Given the description of an element on the screen output the (x, y) to click on. 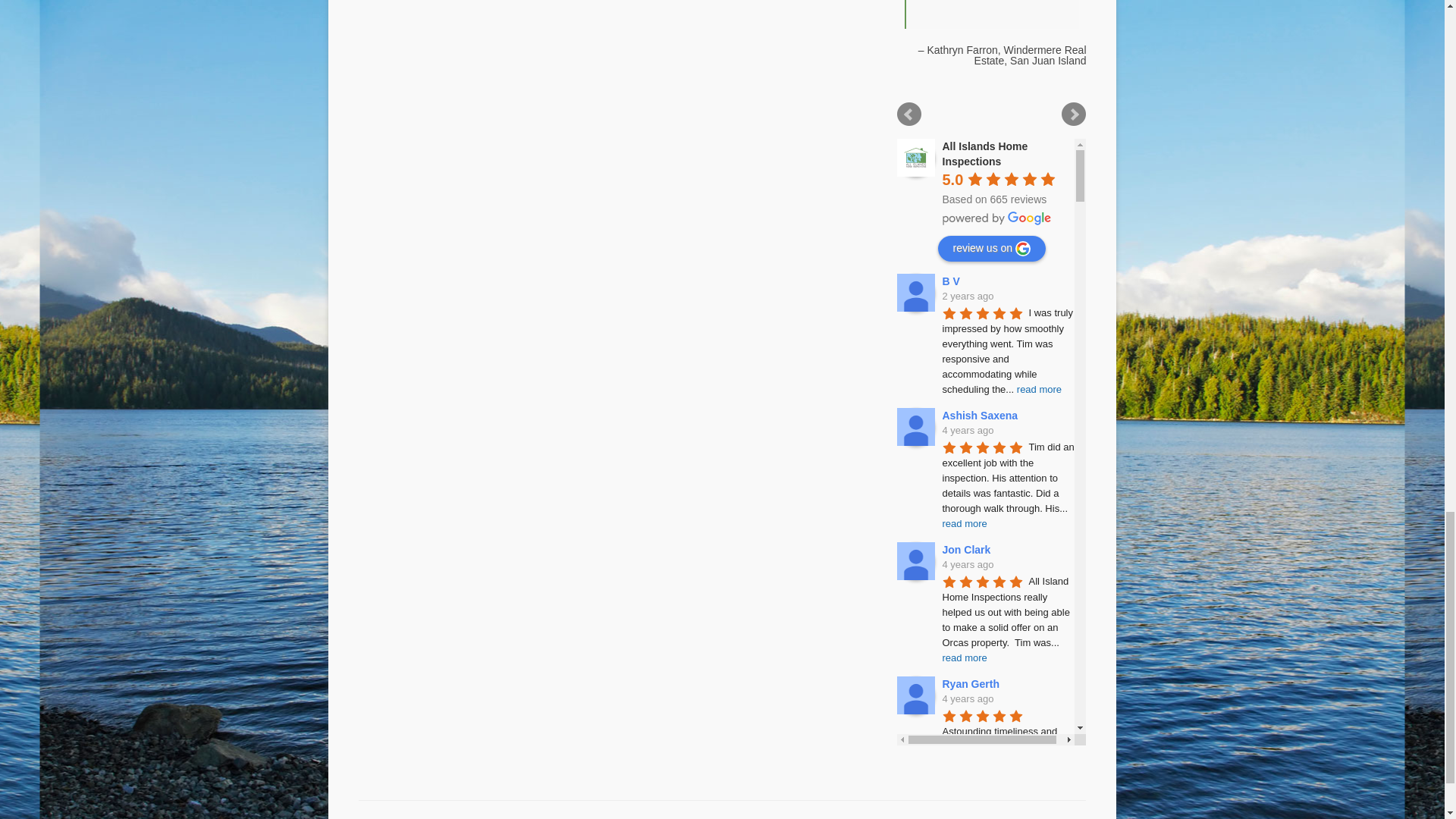
B V (915, 292)
Next (1073, 114)
Ryan Gerth (915, 695)
Ashish Saxena (915, 426)
Prev (908, 114)
All Islands Home Inspections (915, 157)
review us on (991, 248)
All Islands Home Inspections (984, 153)
powered by Google (996, 218)
Jon Clark (915, 560)
B V (952, 281)
